Given the description of an element on the screen output the (x, y) to click on. 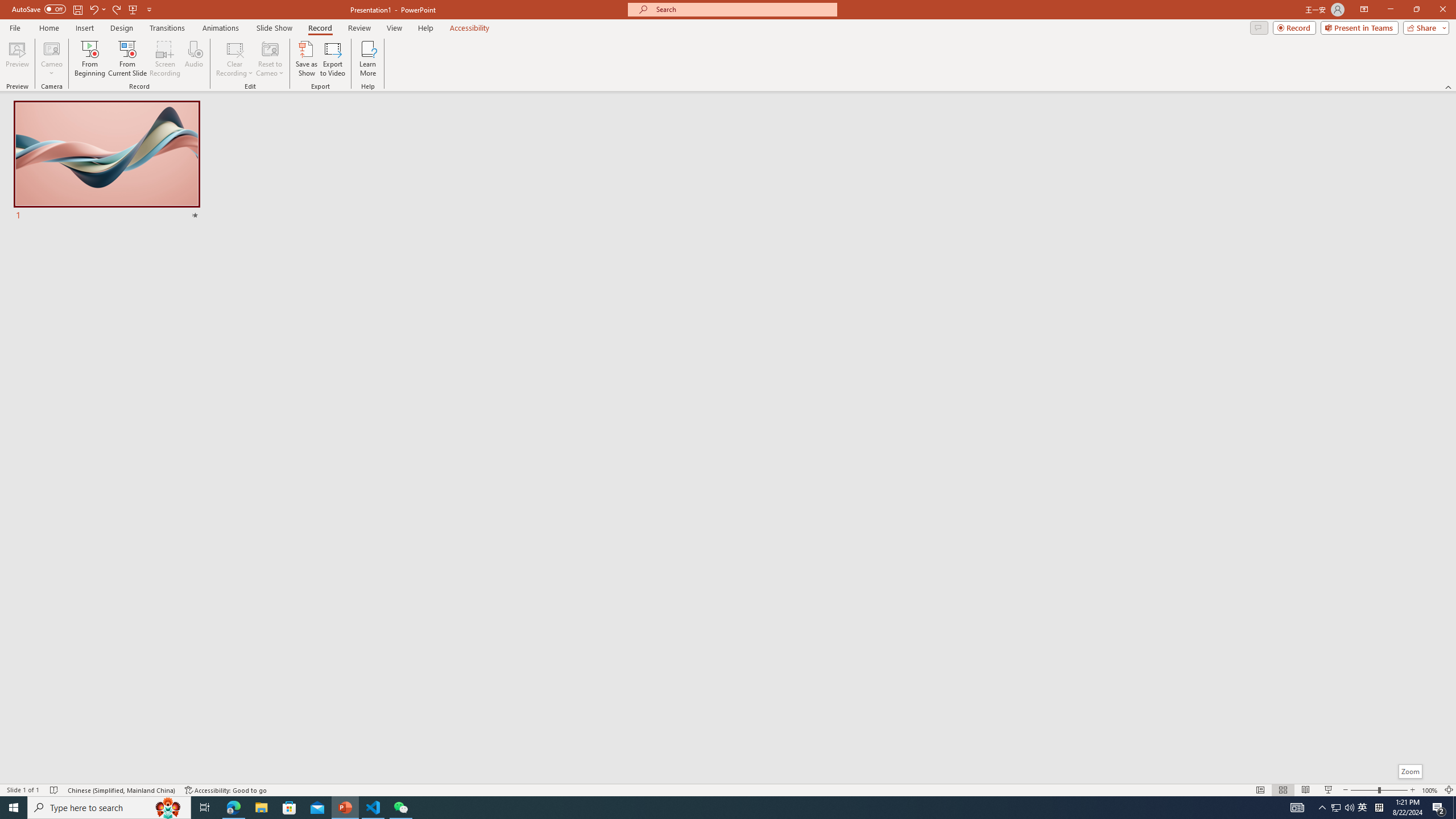
Export to Video (332, 58)
Reset to Cameo (269, 58)
Learn More (368, 58)
Accessibility Checker Accessibility: Good to go (226, 790)
